Given the description of an element on the screen output the (x, y) to click on. 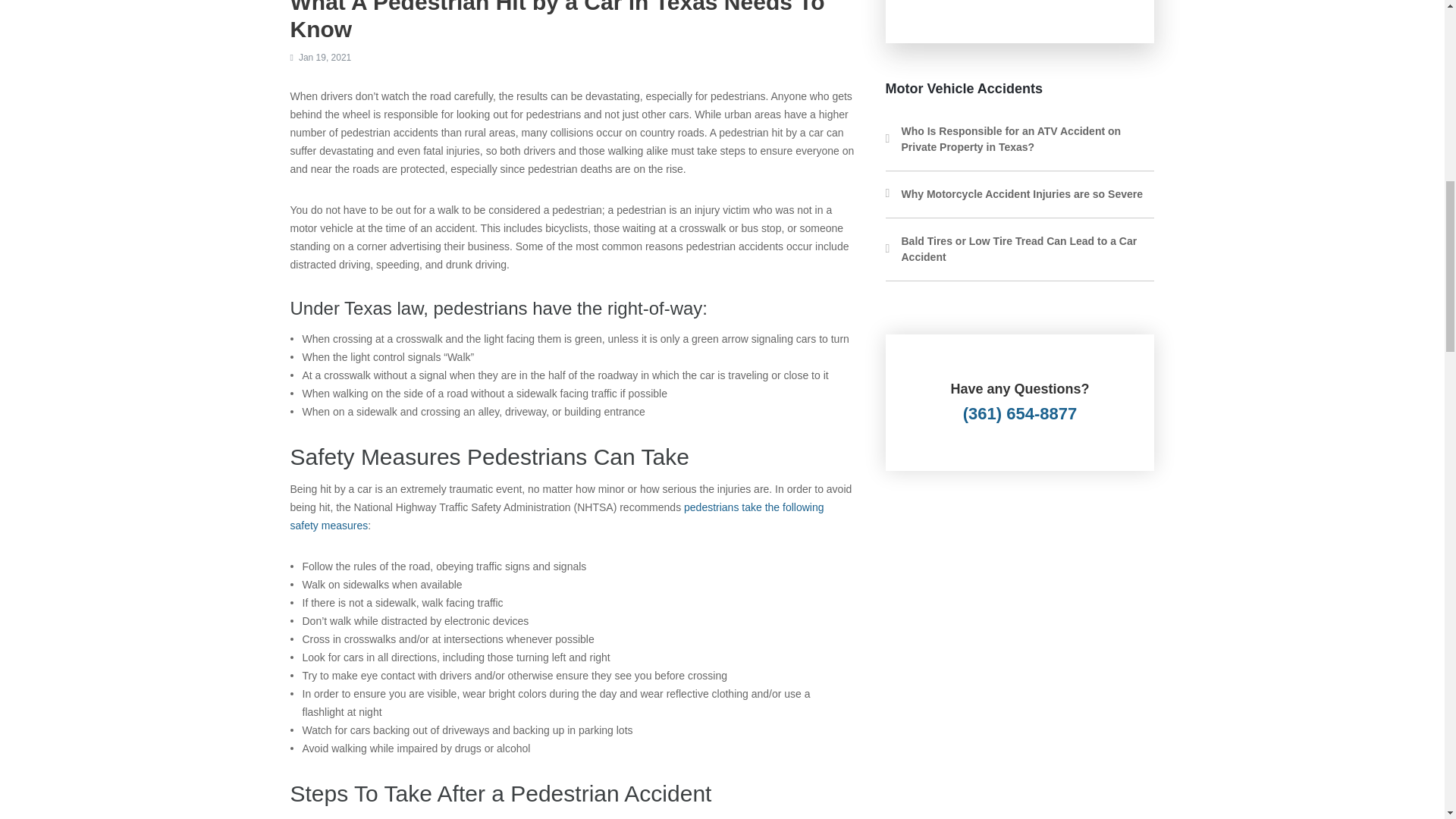
Call us (1019, 402)
